Given the description of an element on the screen output the (x, y) to click on. 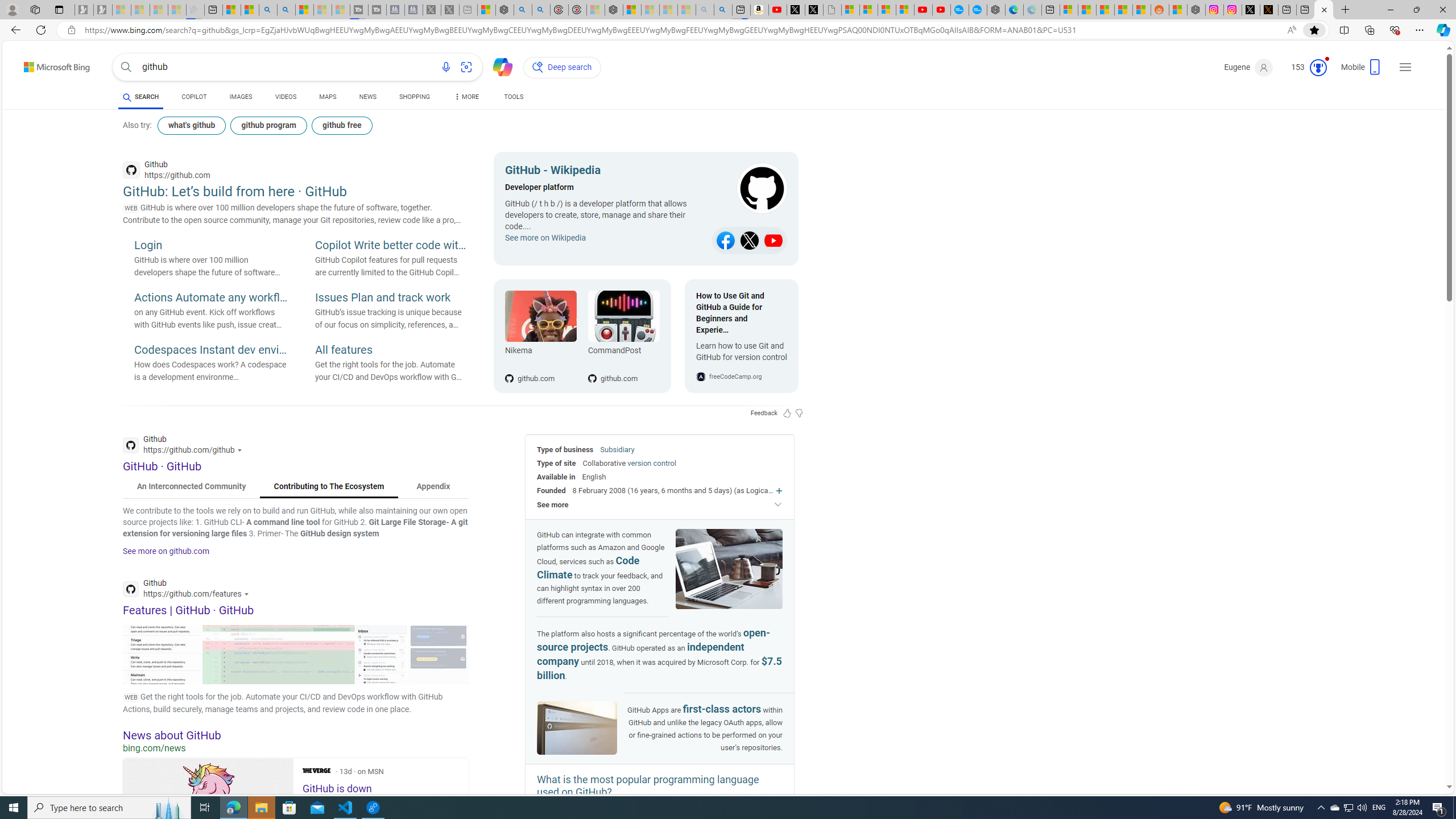
Feedback Like (786, 412)
Chat (497, 65)
Dropdown Menu (465, 96)
Global web icon (130, 588)
Type of business (565, 449)
Settings and quick links (1404, 67)
An Interconnected Community (191, 486)
github.com (623, 359)
